Given the description of an element on the screen output the (x, y) to click on. 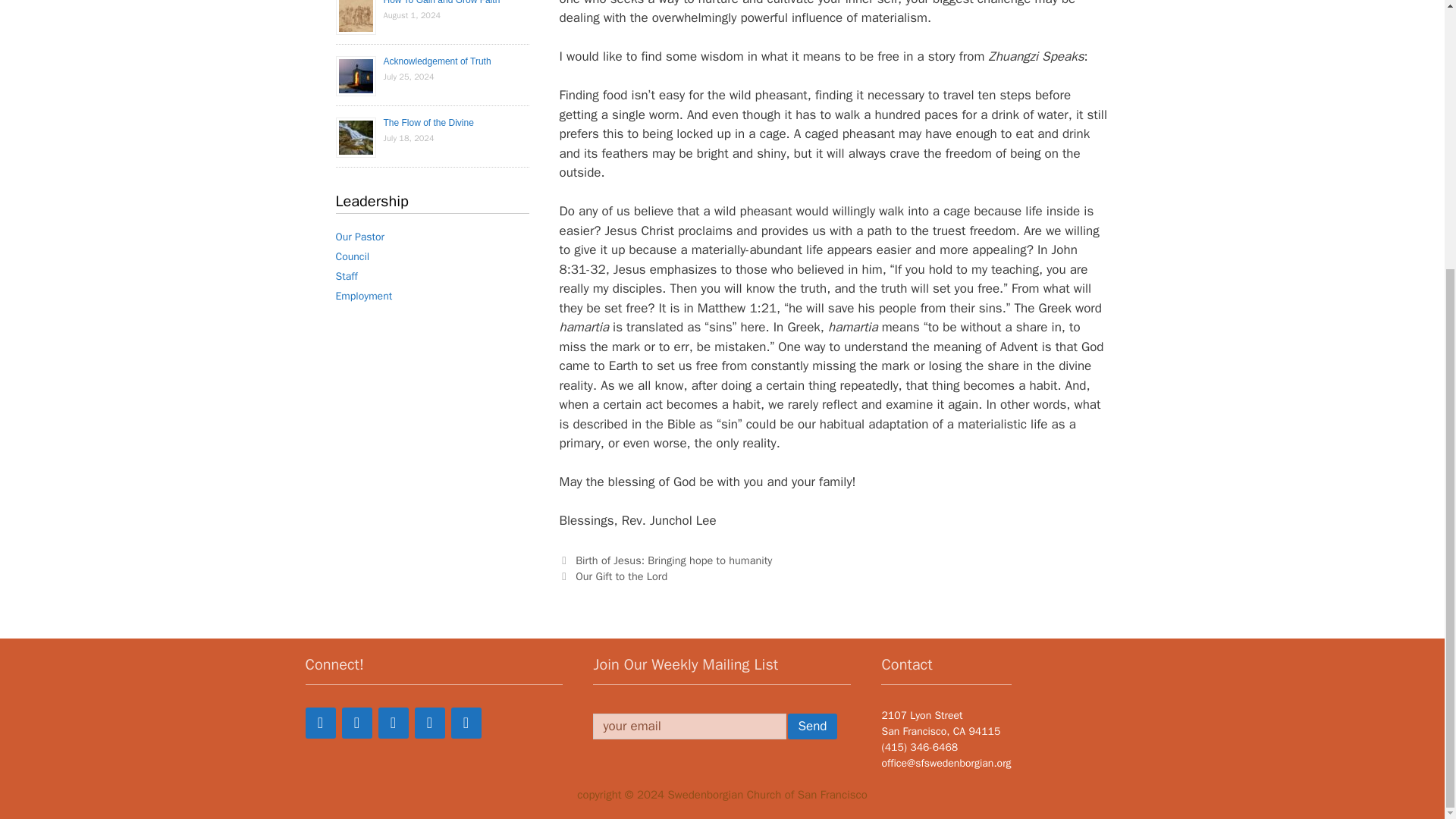
Twitter (355, 722)
Yelp (392, 722)
Facebook (319, 722)
Send (811, 726)
Instagram (464, 722)
YouTube (428, 722)
your email (689, 726)
